Given the description of an element on the screen output the (x, y) to click on. 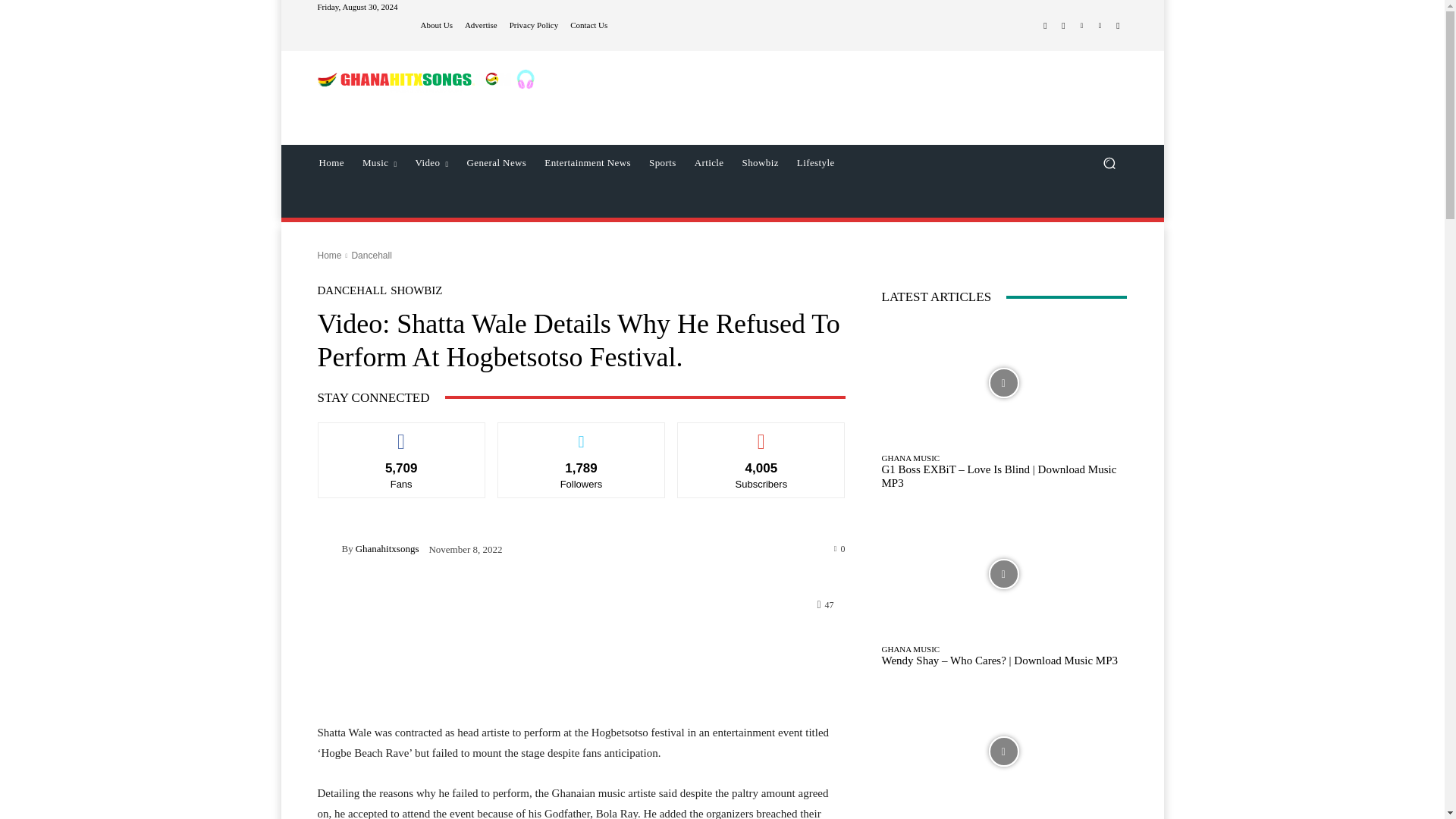
Privacy Policy (533, 25)
View all posts in Dancehall (370, 255)
Vimeo (1099, 25)
Youtube (1117, 25)
About Us (435, 25)
Instagram (1062, 25)
Facebook (1044, 25)
Advertise (480, 25)
Contact Us (588, 25)
Twitter (1080, 25)
